Given the description of an element on the screen output the (x, y) to click on. 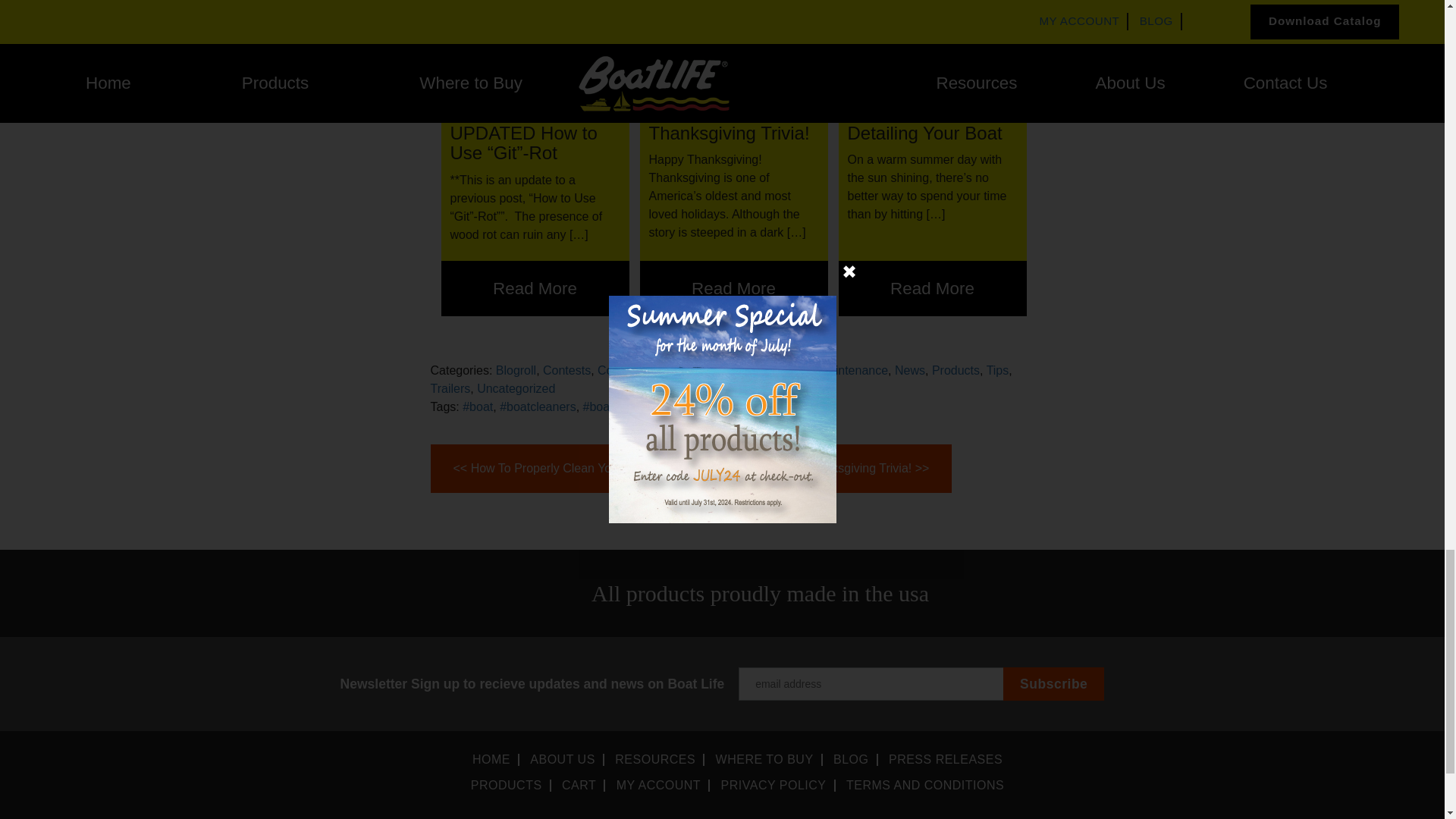
Subscribe (1053, 684)
